Given the description of an element on the screen output the (x, y) to click on. 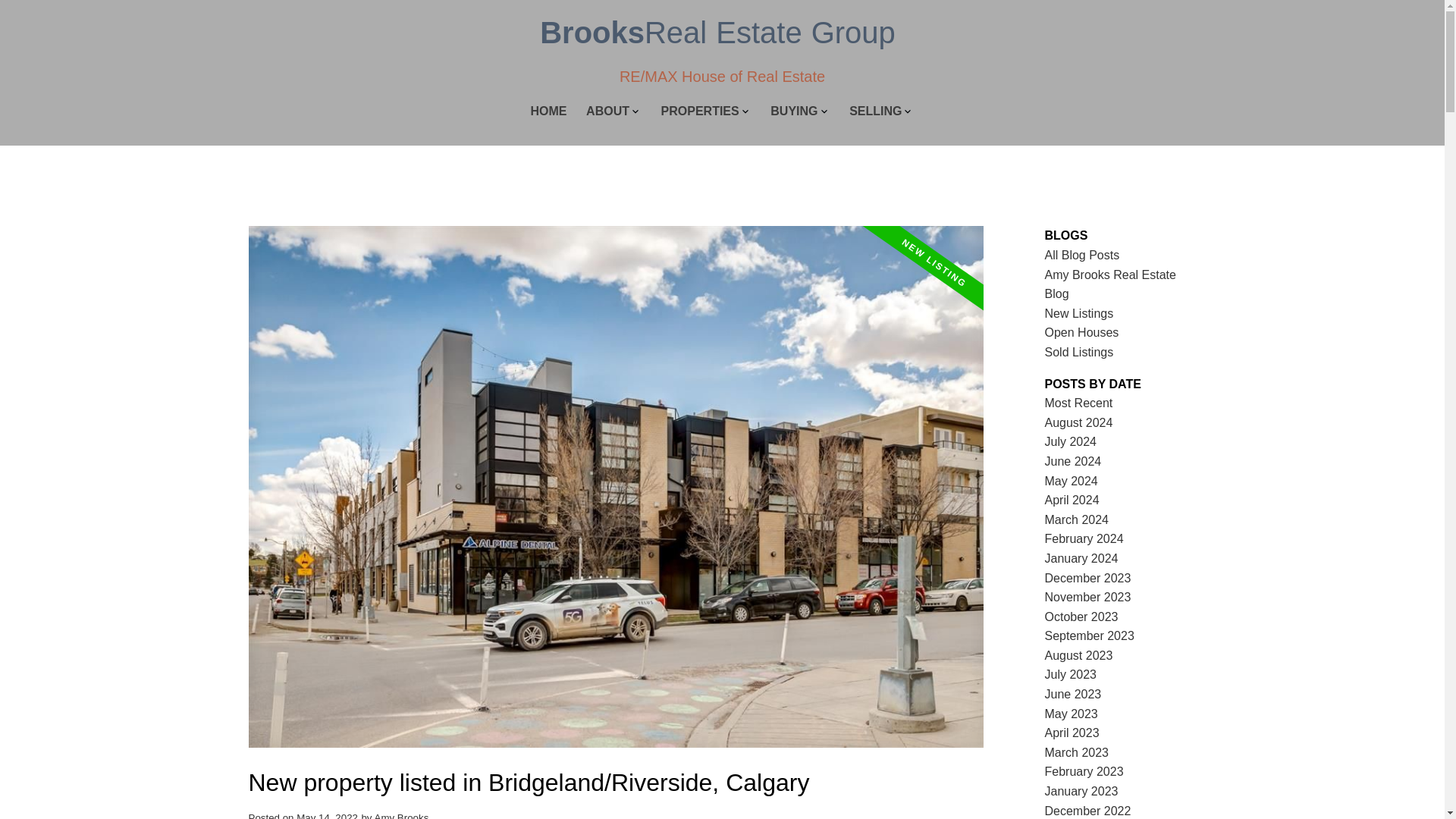
March 2024 (1077, 519)
New Listings (1079, 313)
Open Houses (1082, 332)
HOME (549, 112)
February 2024 (1084, 538)
SELLING (874, 112)
ABOUT (607, 112)
August 2023 (1079, 655)
December 2023 (1088, 577)
May 2024 (1071, 481)
